Given the description of an element on the screen output the (x, y) to click on. 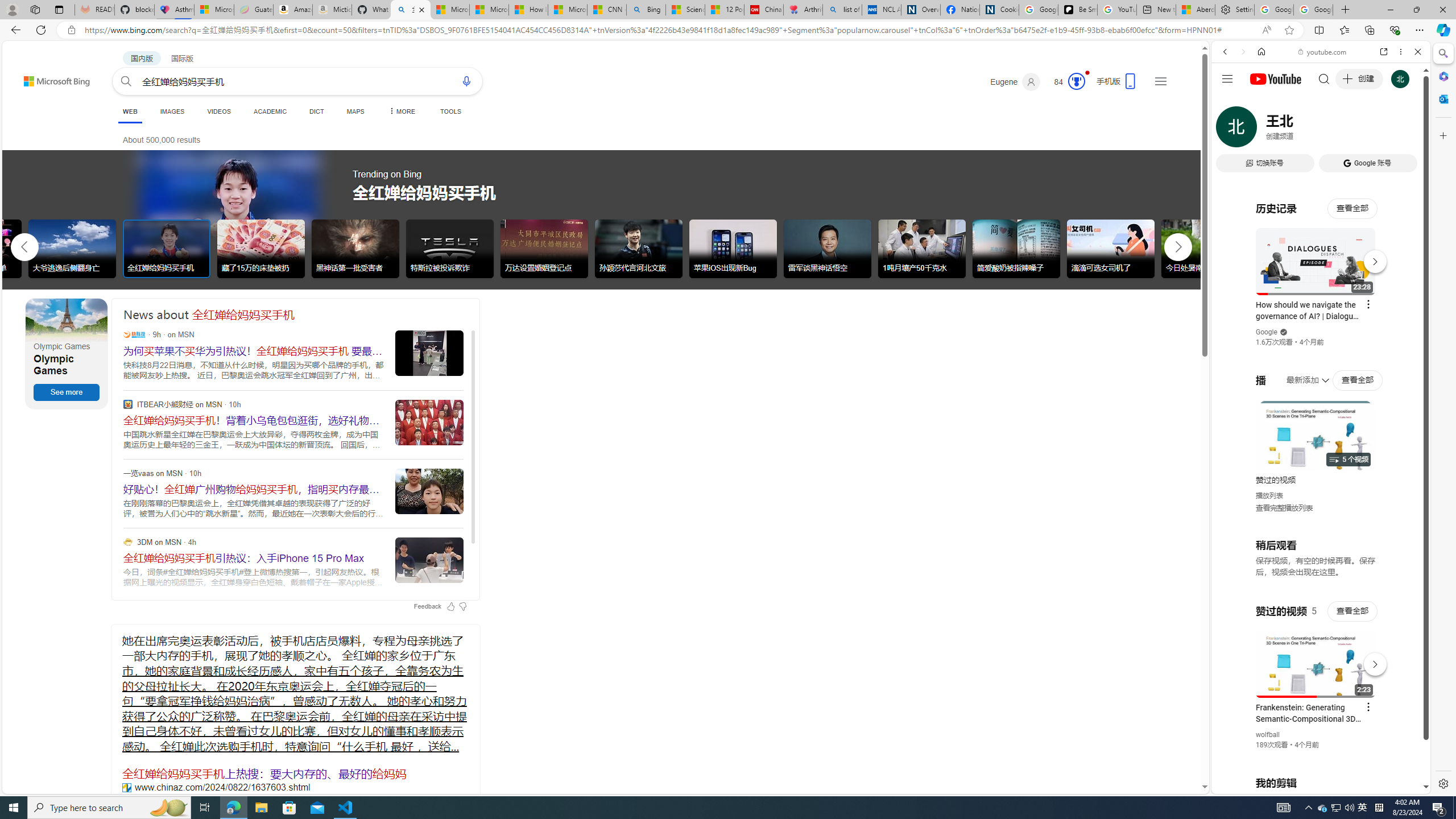
Preferences (1403, 129)
Search the web (1326, 78)
#you (1320, 253)
US[ju] (1249, 785)
Aberdeen, Hong Kong SAR hourly forecast | Microsoft Weather (1195, 9)
DICT (316, 111)
